Given the description of an element on the screen output the (x, y) to click on. 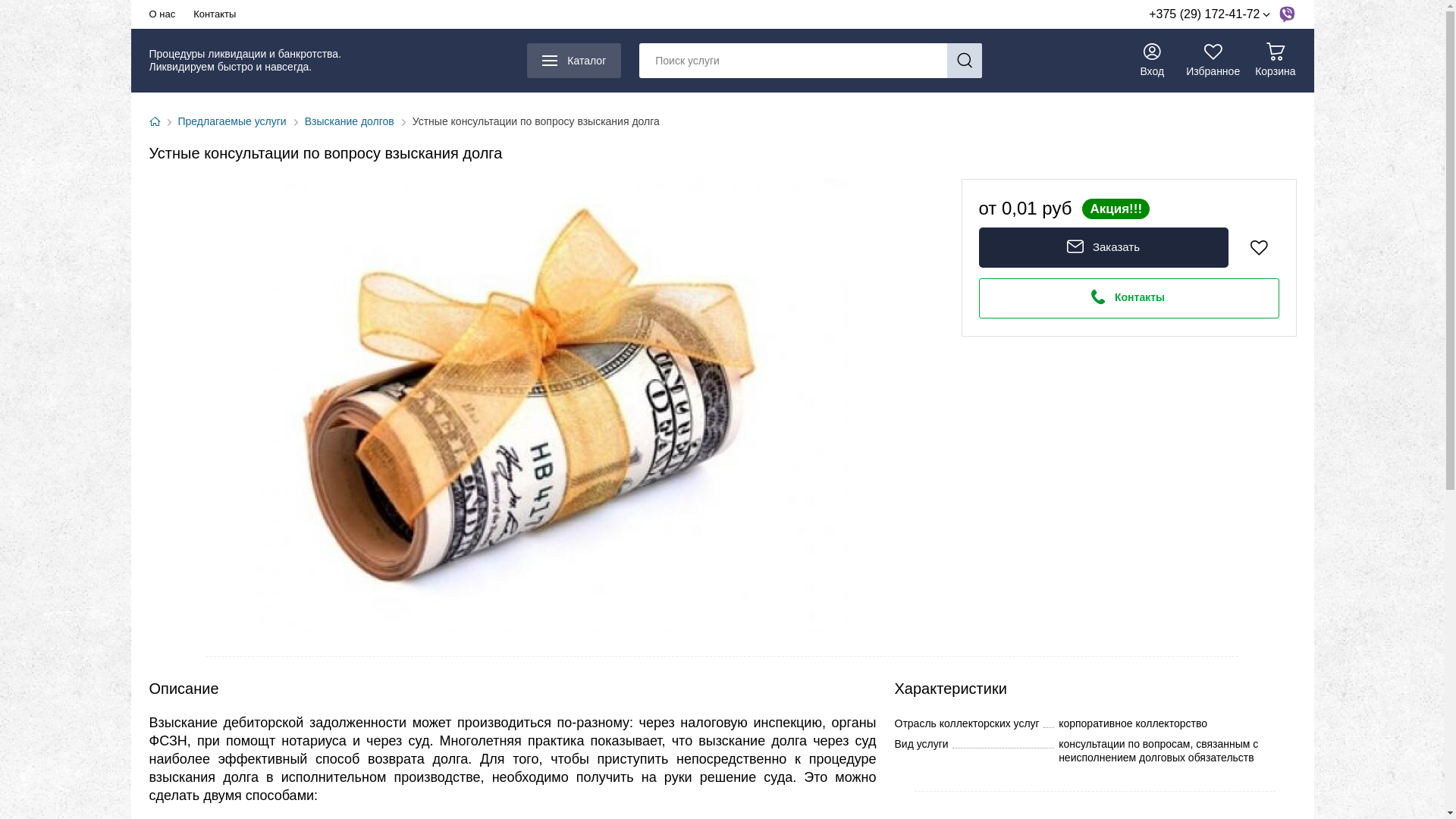
Viber Element type: hover (1286, 14)
+375 (29) 172-41-72 Element type: text (1208, 13)
